Given the description of an element on the screen output the (x, y) to click on. 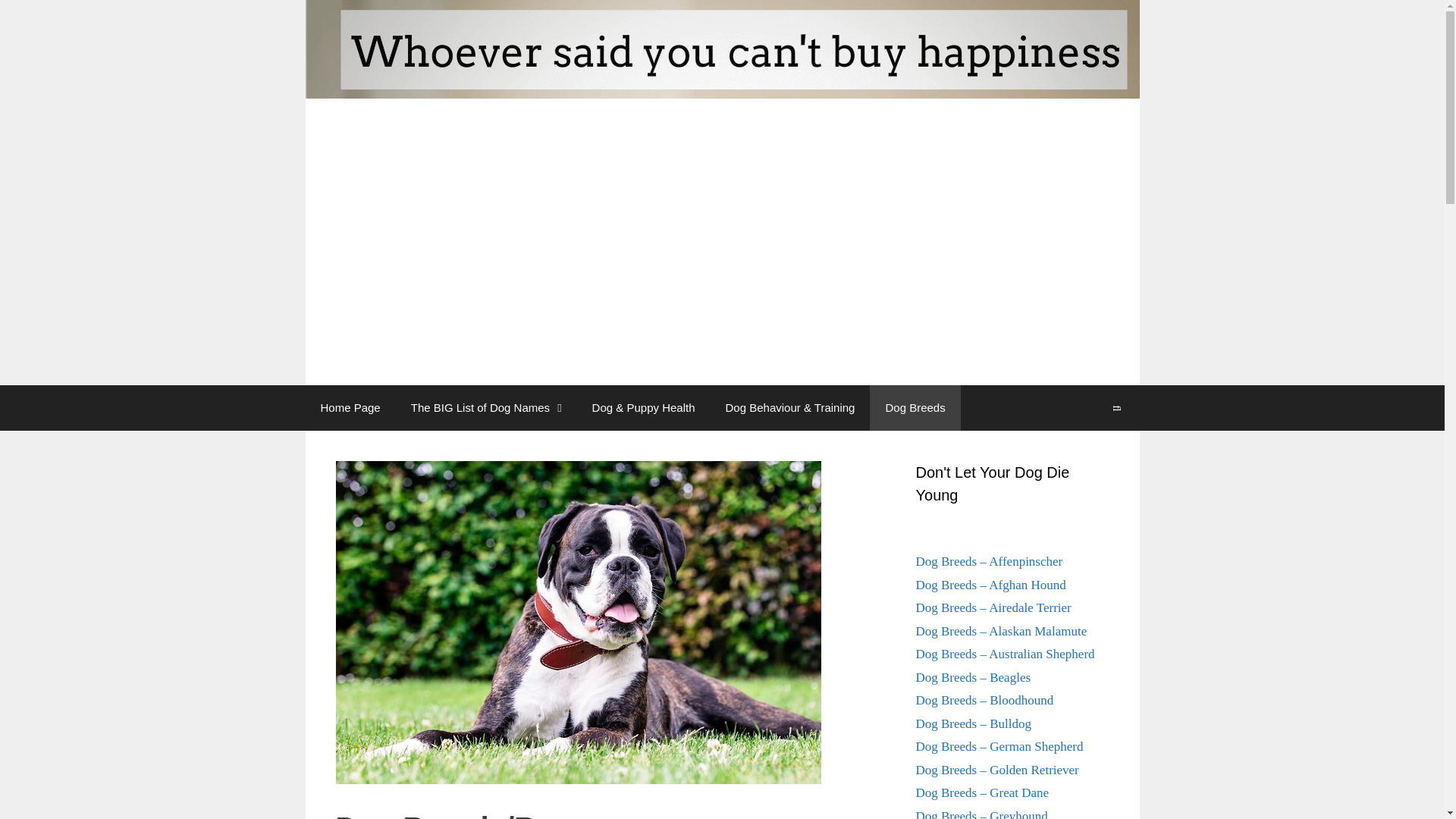
Dog Breeds (914, 407)
Help Puppy (721, 191)
Search (1116, 407)
The BIG List of Dog Names (486, 407)
Home Page (349, 407)
Search (1116, 407)
